Given the description of an element on the screen output the (x, y) to click on. 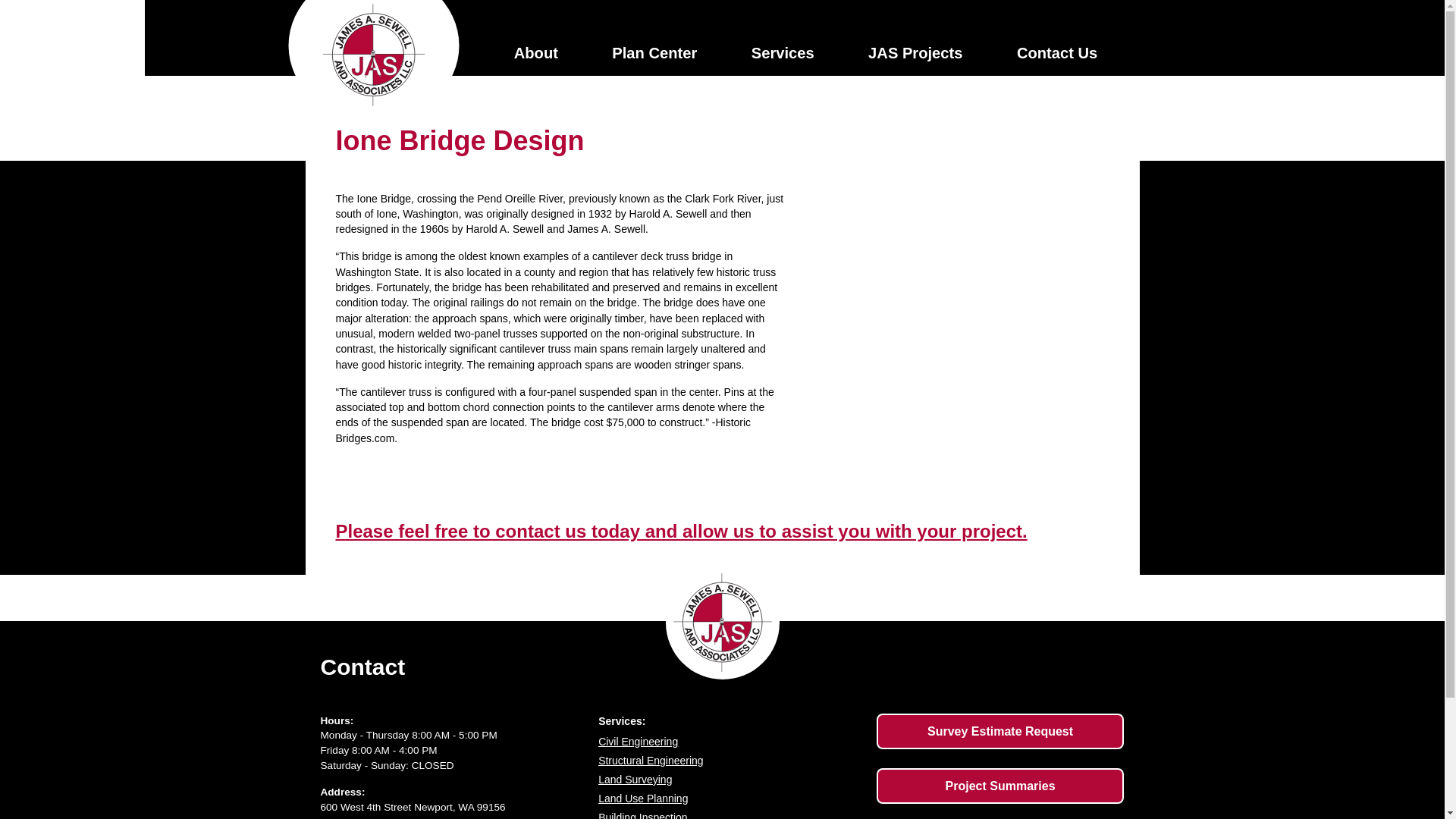
Structural Engineering (729, 760)
logo-jas (373, 55)
Plan Center (654, 53)
Survey Estimate Request (1000, 731)
Services (783, 53)
Land Use Planning (729, 798)
About (535, 53)
Building Inspection (729, 813)
Civil Engineering (729, 741)
